Given the description of an element on the screen output the (x, y) to click on. 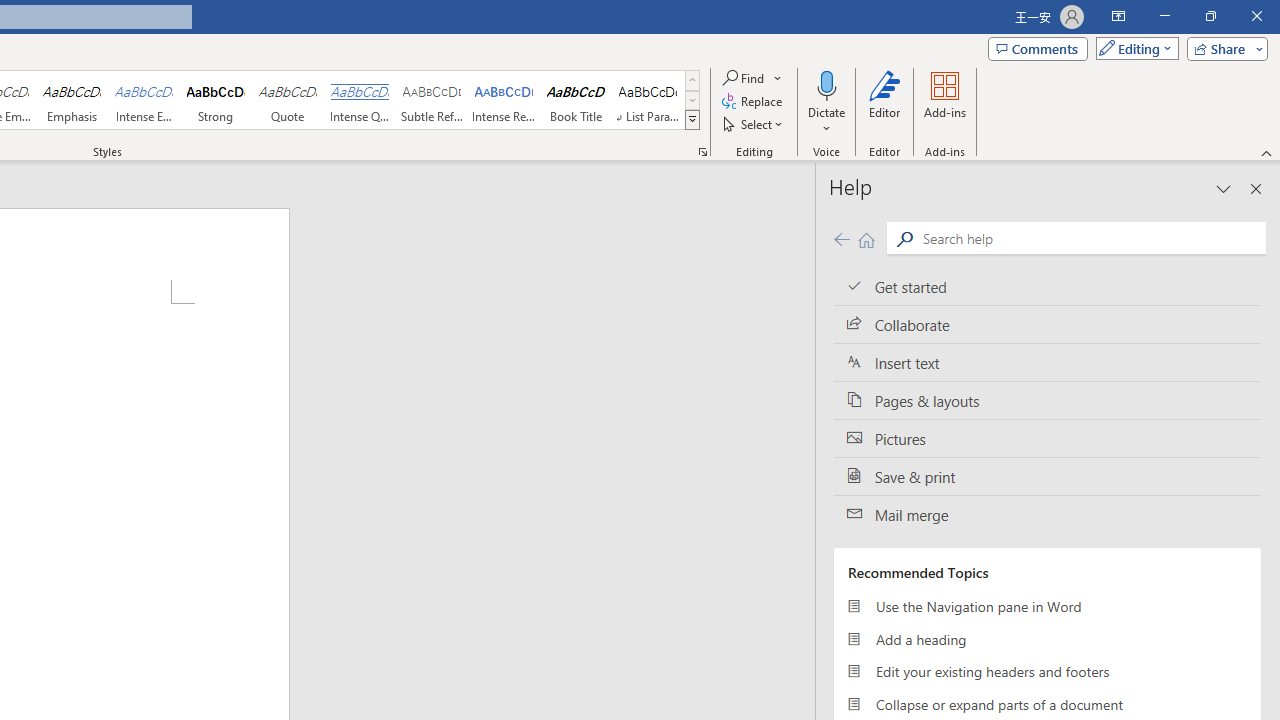
Add a heading (1047, 638)
Mail merge (1047, 515)
Subtle Reference (431, 100)
Pages & layouts (1047, 400)
Pictures (1047, 438)
Previous page (841, 238)
Styles... (702, 151)
Intense Quote (359, 100)
